Given the description of an element on the screen output the (x, y) to click on. 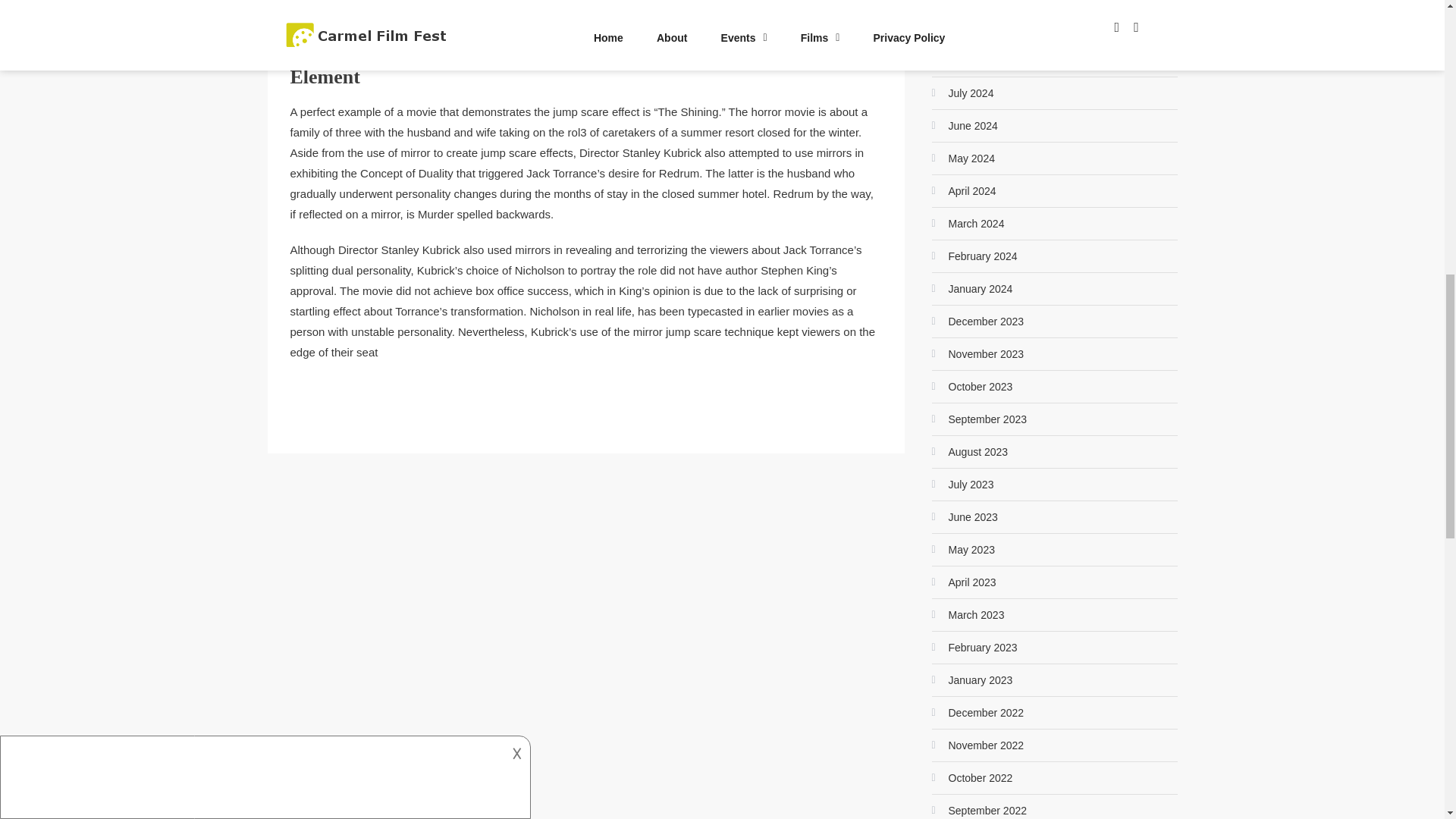
June 2024 (964, 125)
August 2024 (969, 60)
July 2024 (961, 93)
